Given the description of an element on the screen output the (x, y) to click on. 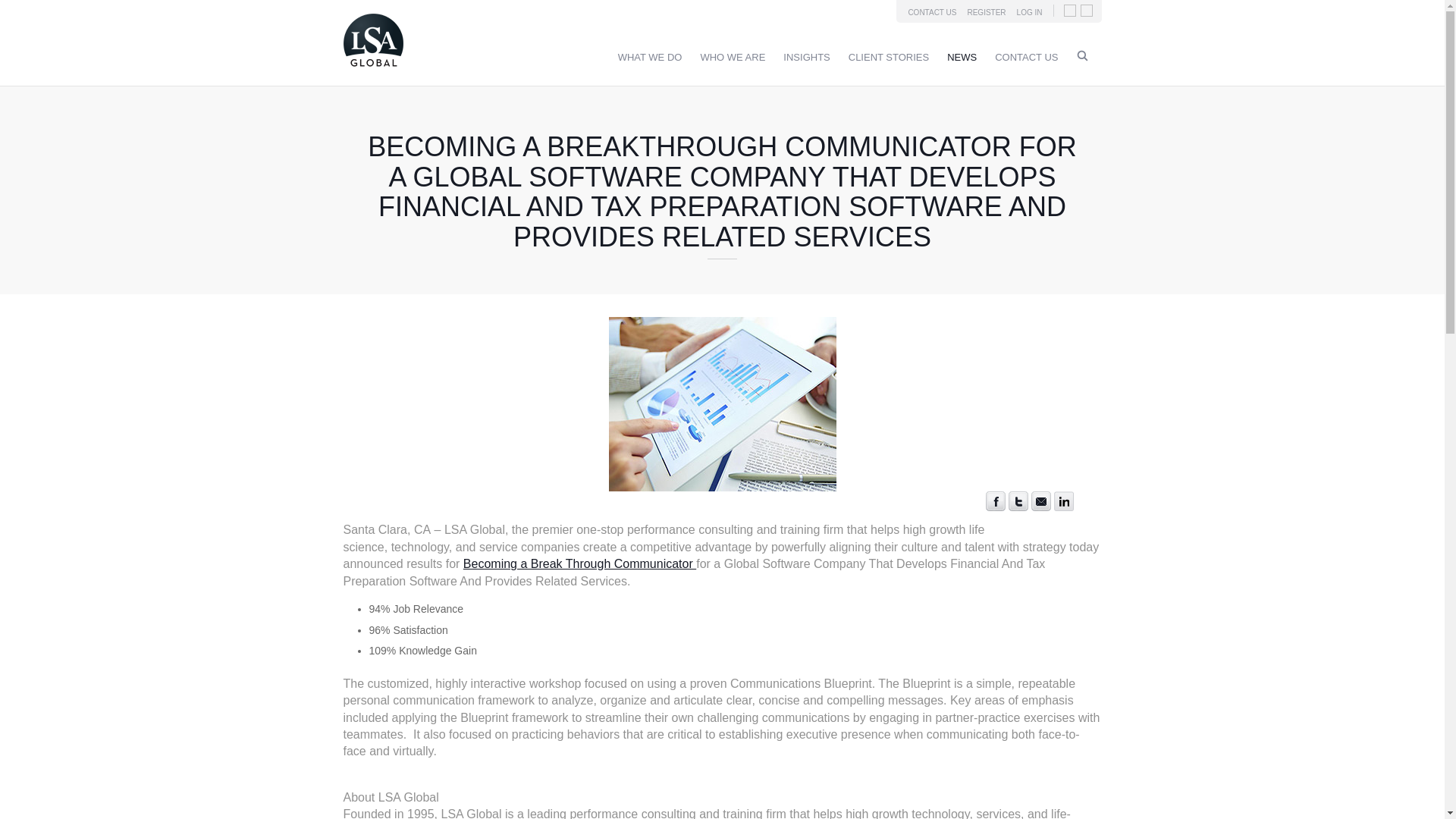
Contact Us (1026, 57)
Client Stories (888, 57)
Insights (806, 57)
News (961, 57)
Return to the homepage (372, 69)
